Given the description of an element on the screen output the (x, y) to click on. 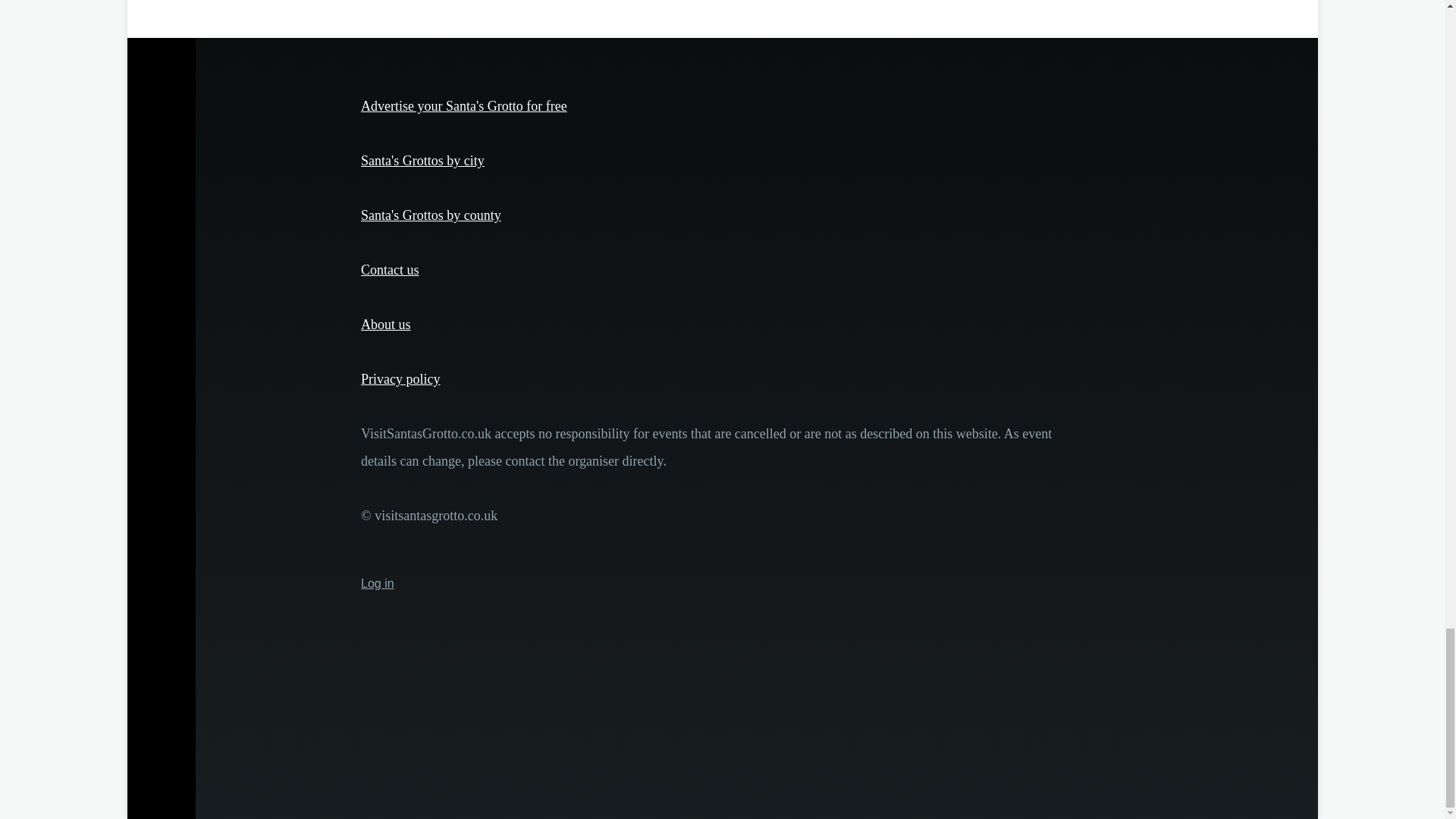
Santa's Grottos by county (430, 215)
Contact us (390, 269)
Santa's Grottos by city (422, 160)
Privacy policy (400, 378)
Advertise your Santa's Grotto for free (464, 105)
Log in (377, 583)
About us (385, 324)
